Given the description of an element on the screen output the (x, y) to click on. 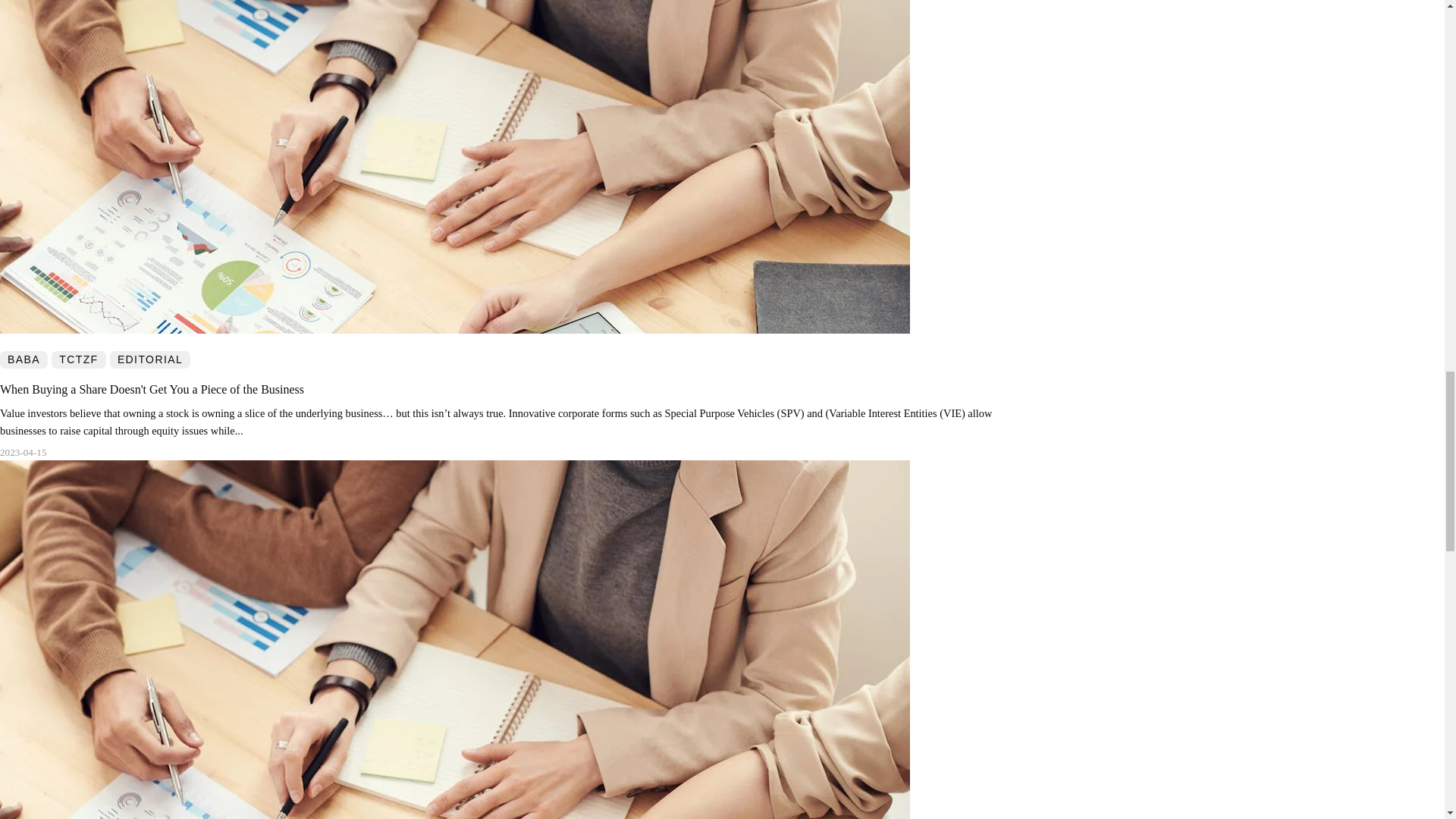
BABA (23, 358)
